Given the description of an element on the screen output the (x, y) to click on. 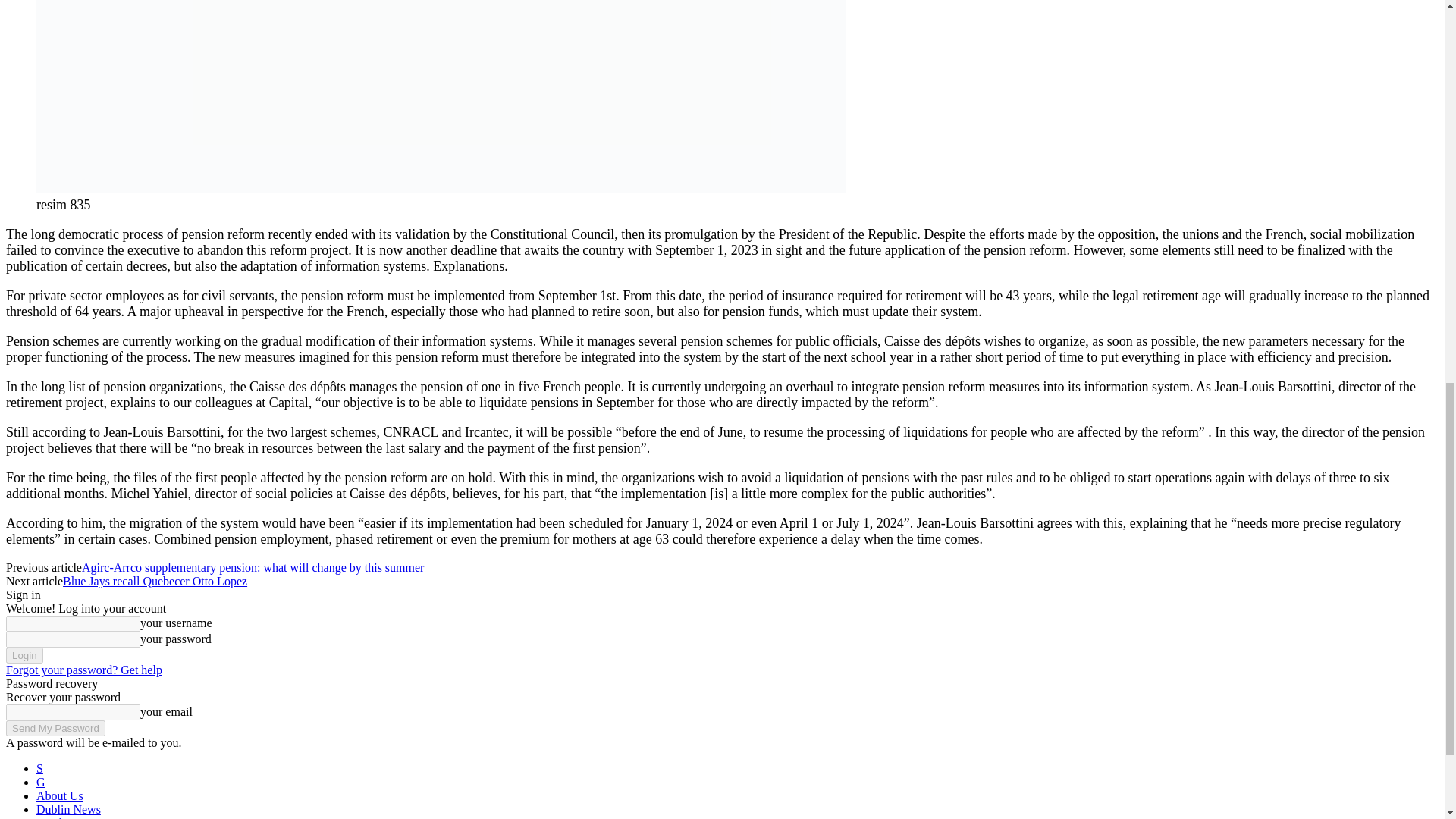
London News (70, 817)
Send My Password (54, 728)
About Us (59, 795)
Blue Jays recall Quebecer Otto Lopez (154, 581)
Login (24, 655)
Dublin News (68, 809)
Forgot your password? Get help (83, 669)
